Given the description of an element on the screen output the (x, y) to click on. 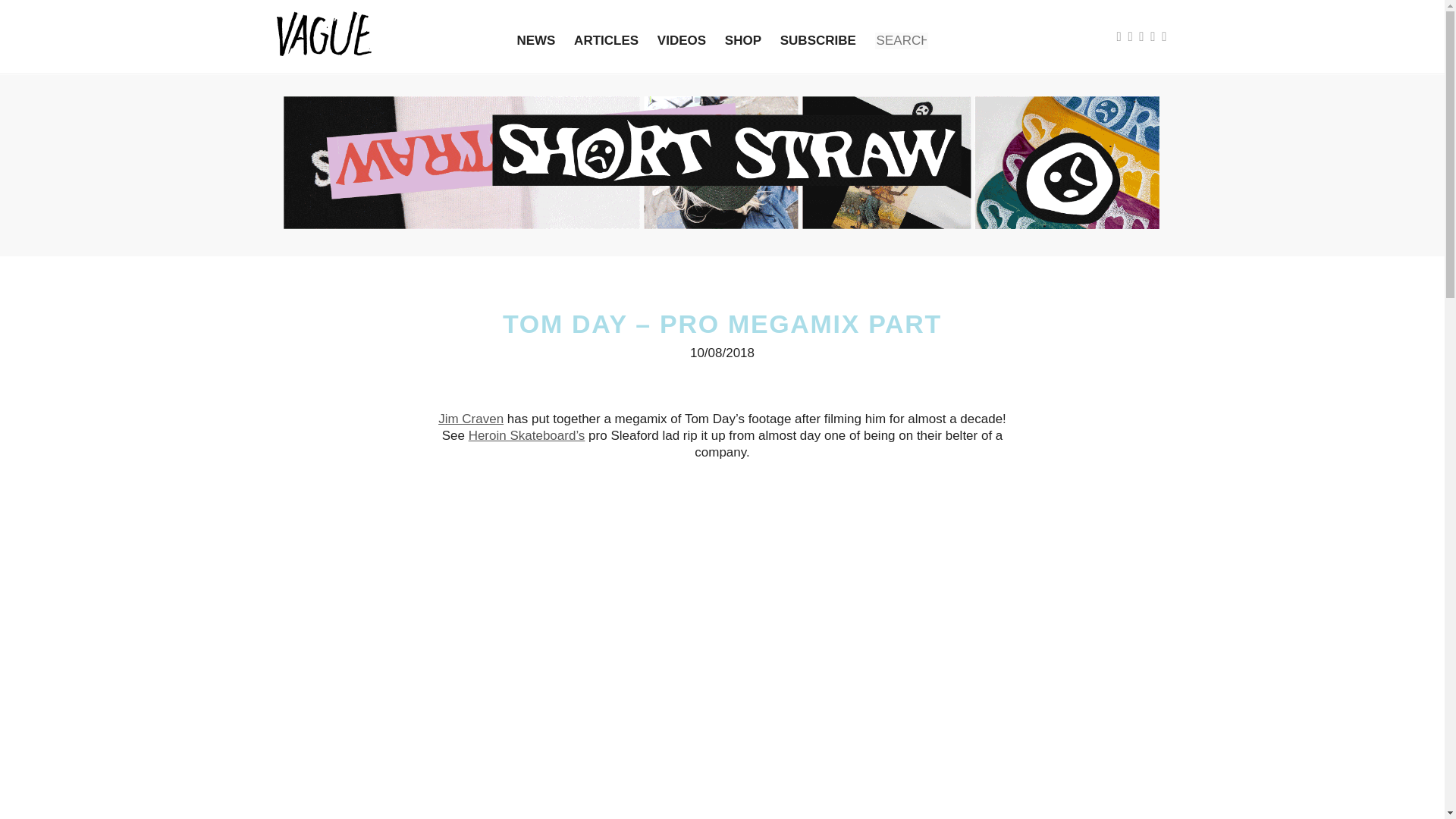
SUBSCRIBE (818, 40)
SHOP (743, 40)
ARTICLES (606, 40)
Jim Craven (470, 418)
NEWS (535, 40)
VIDEOS (682, 40)
